Given the description of an element on the screen output the (x, y) to click on. 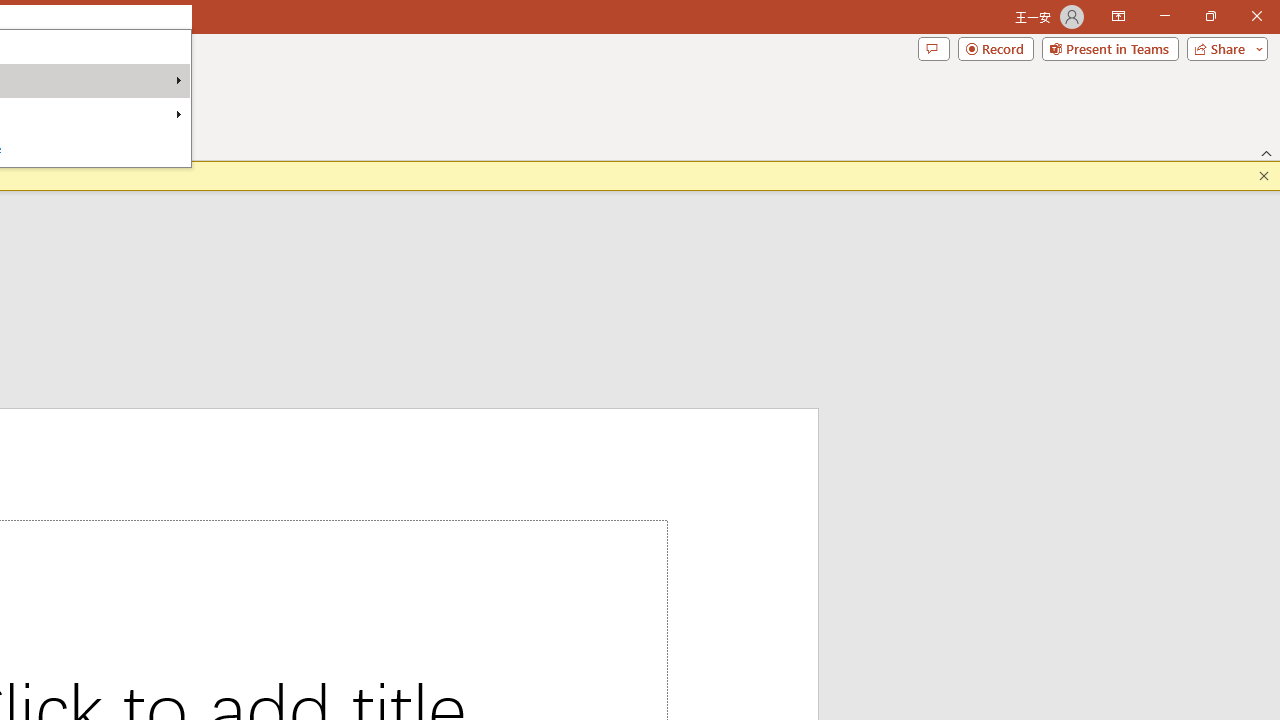
Close this message (1263, 176)
